Given the description of an element on the screen output the (x, y) to click on. 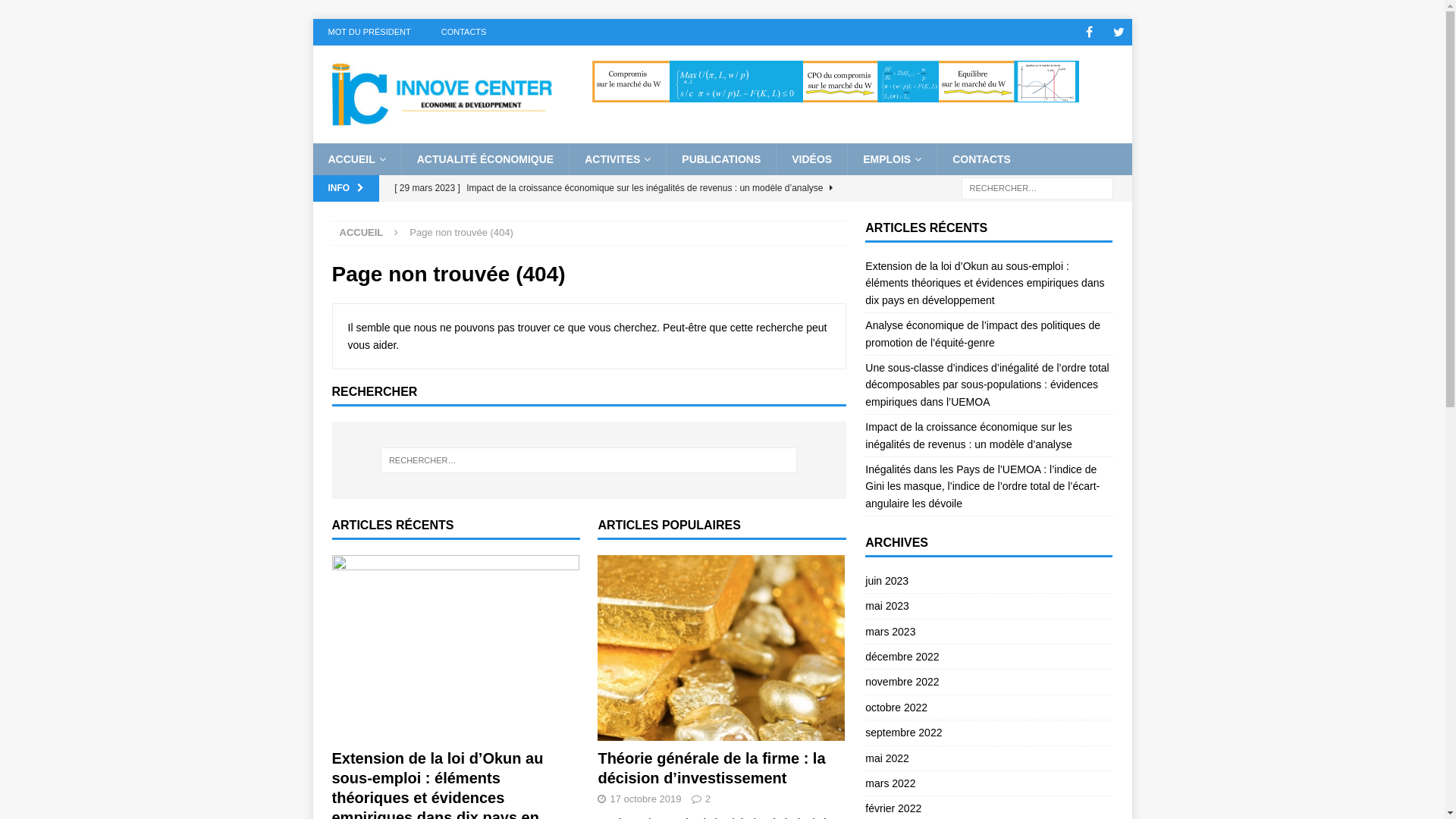
mars 2022 Element type: text (988, 783)
PUBLICATIONS Element type: text (720, 159)
CONTACTS Element type: text (464, 31)
ACCUEIL Element type: text (356, 159)
mai 2022 Element type: text (988, 758)
novembre 2022 Element type: text (988, 681)
ACCUEIL Element type: text (361, 232)
2 Element type: text (707, 798)
mai 2023 Element type: text (988, 605)
17 octobre 2019 Element type: text (644, 798)
octobre 2022 Element type: text (988, 707)
CONTACTS Element type: text (981, 159)
septembre 2022 Element type: text (988, 732)
EMPLOIS Element type: text (891, 159)
juin 2023 Element type: text (988, 582)
mars 2023 Element type: text (988, 631)
ACTIVITES Element type: text (616, 159)
Rechercher Element type: text (56, 11)
